Given the description of an element on the screen output the (x, y) to click on. 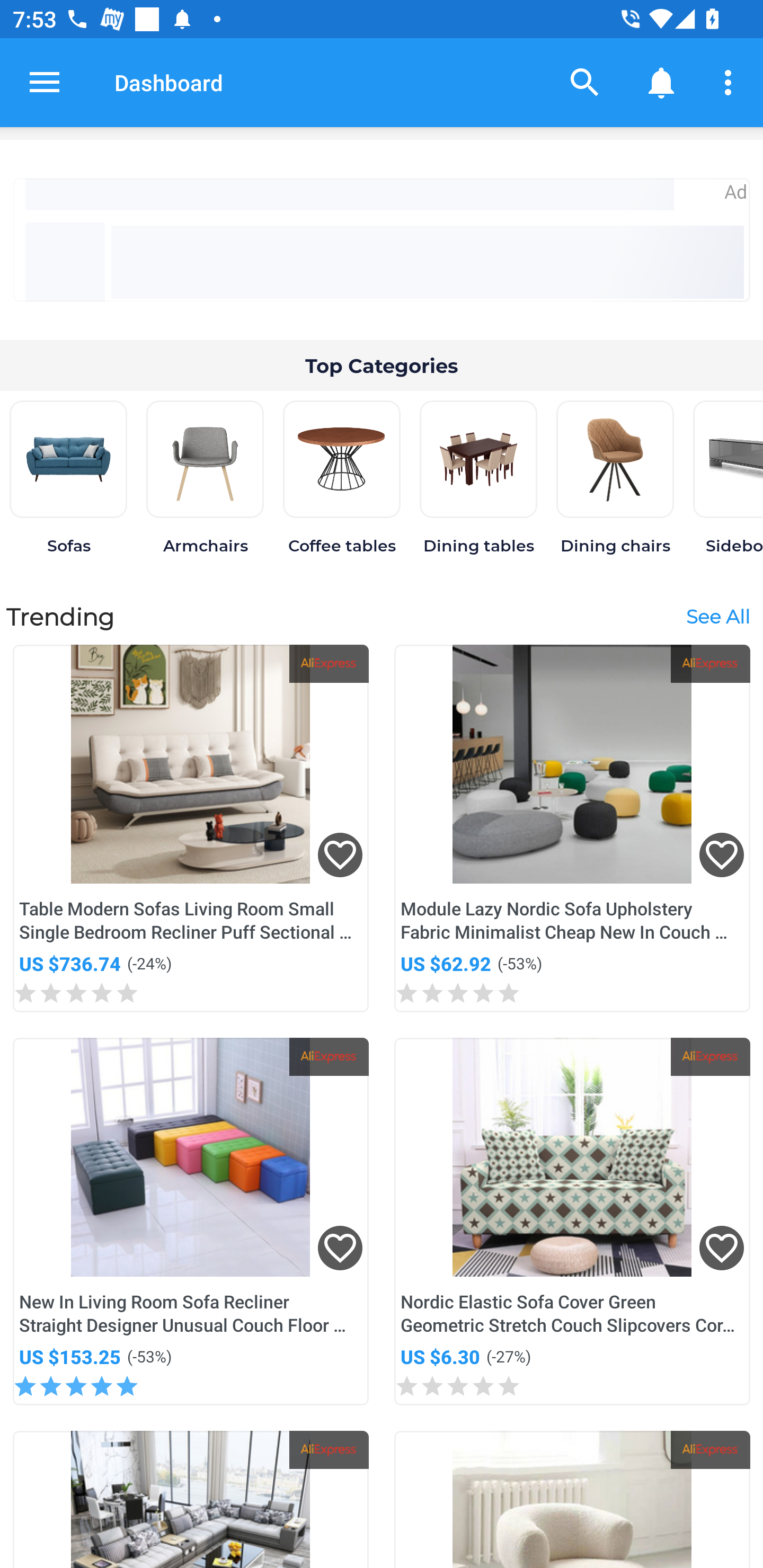
Open navigation drawer (44, 82)
Search (585, 81)
More options (731, 81)
See All (717, 615)
